Given the description of an element on the screen output the (x, y) to click on. 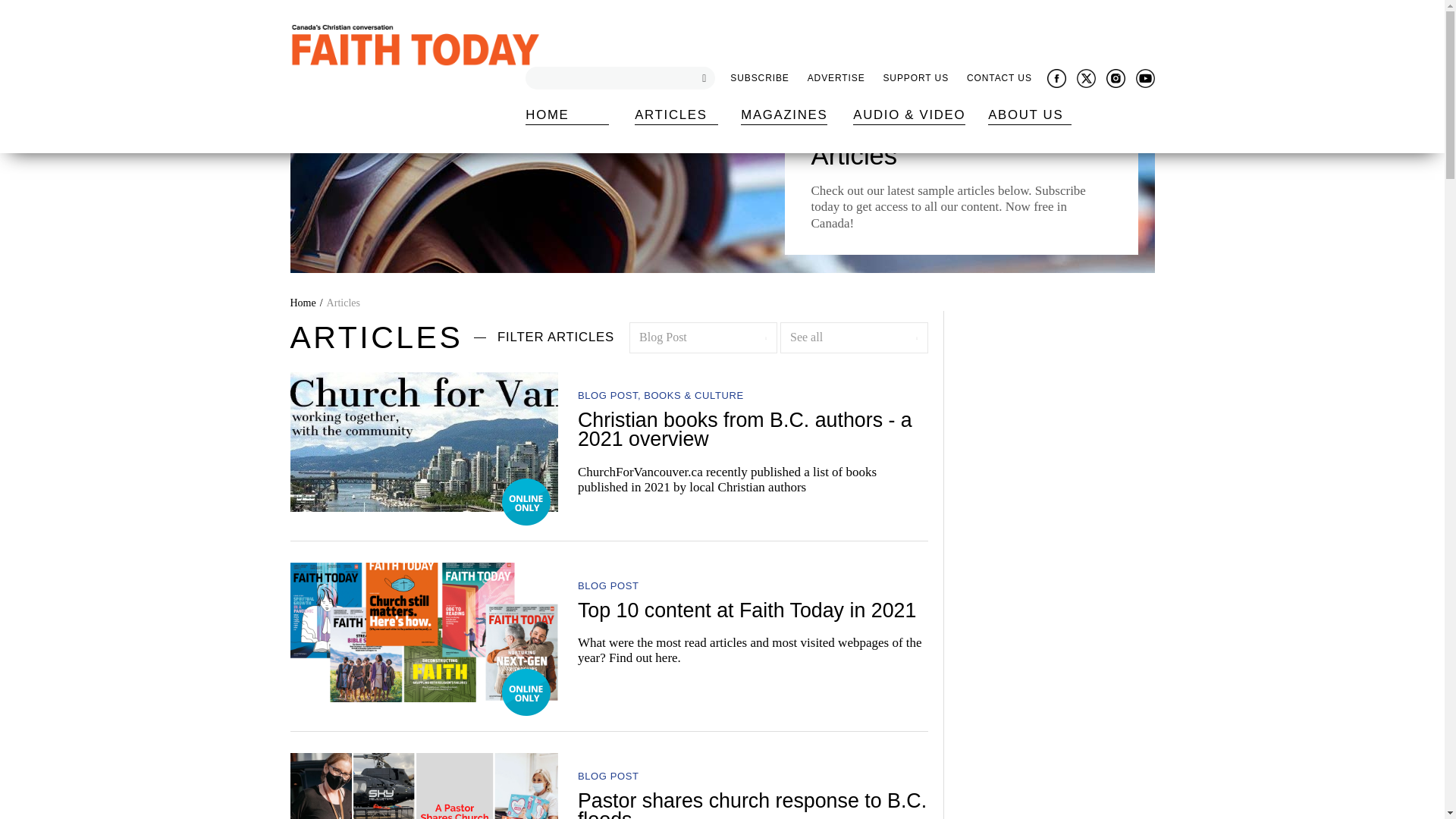
Search (11, 8)
ARTICLES (675, 115)
SUBSCRIBE (759, 78)
Search (699, 77)
HOME (566, 115)
SUPPORT US (915, 78)
MAGAZINES (784, 115)
CONTACT US (999, 78)
ADVERTISE (835, 78)
Church for Vancouver (423, 441)
BC-flood-post (423, 785)
